Given the description of an element on the screen output the (x, y) to click on. 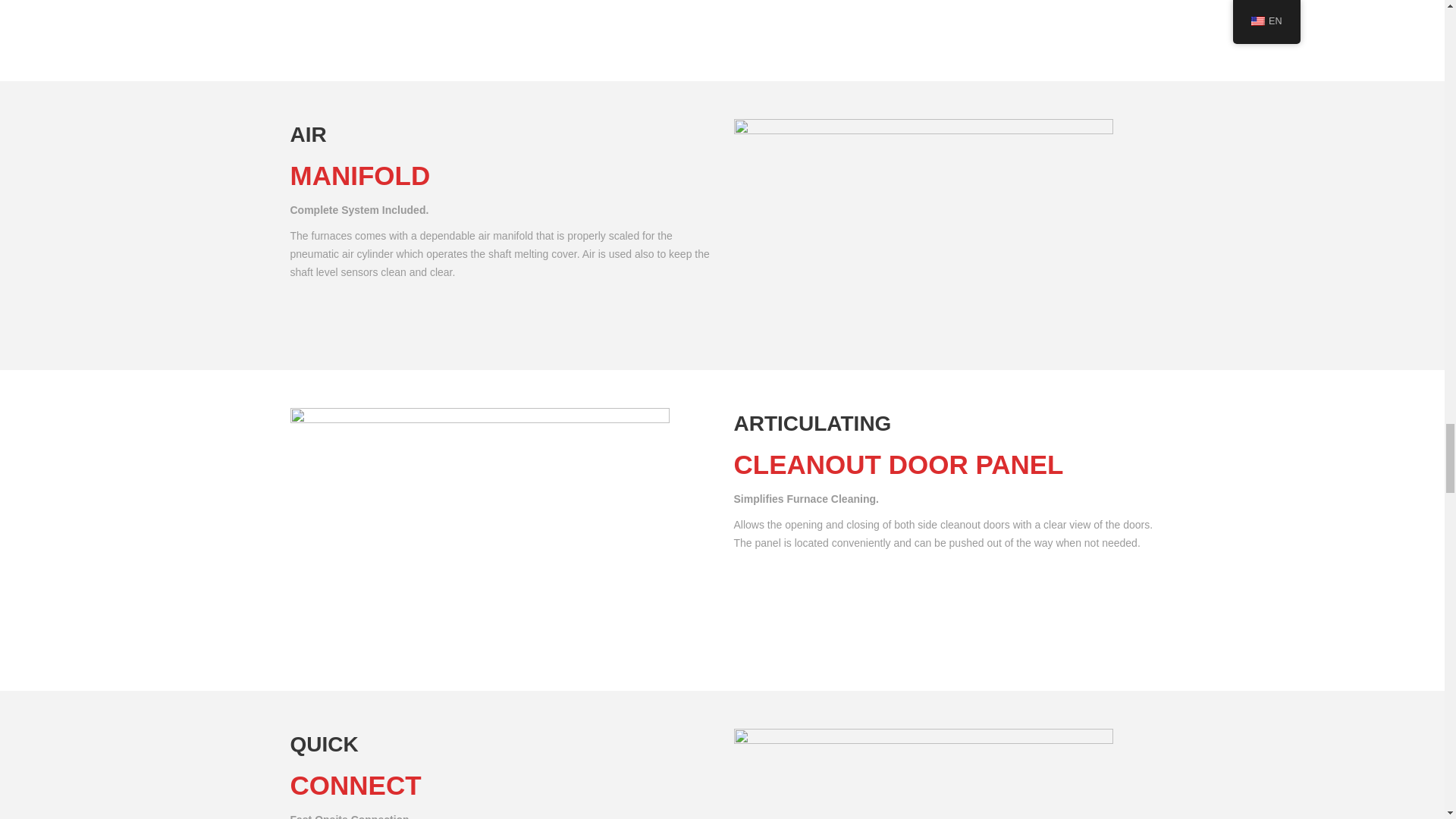
Shaft Elevator Control (478, 21)
Clean Out Door Control LR (478, 529)
Air Manifold (923, 225)
Quick Disconnect LR (923, 773)
